Given the description of an element on the screen output the (x, y) to click on. 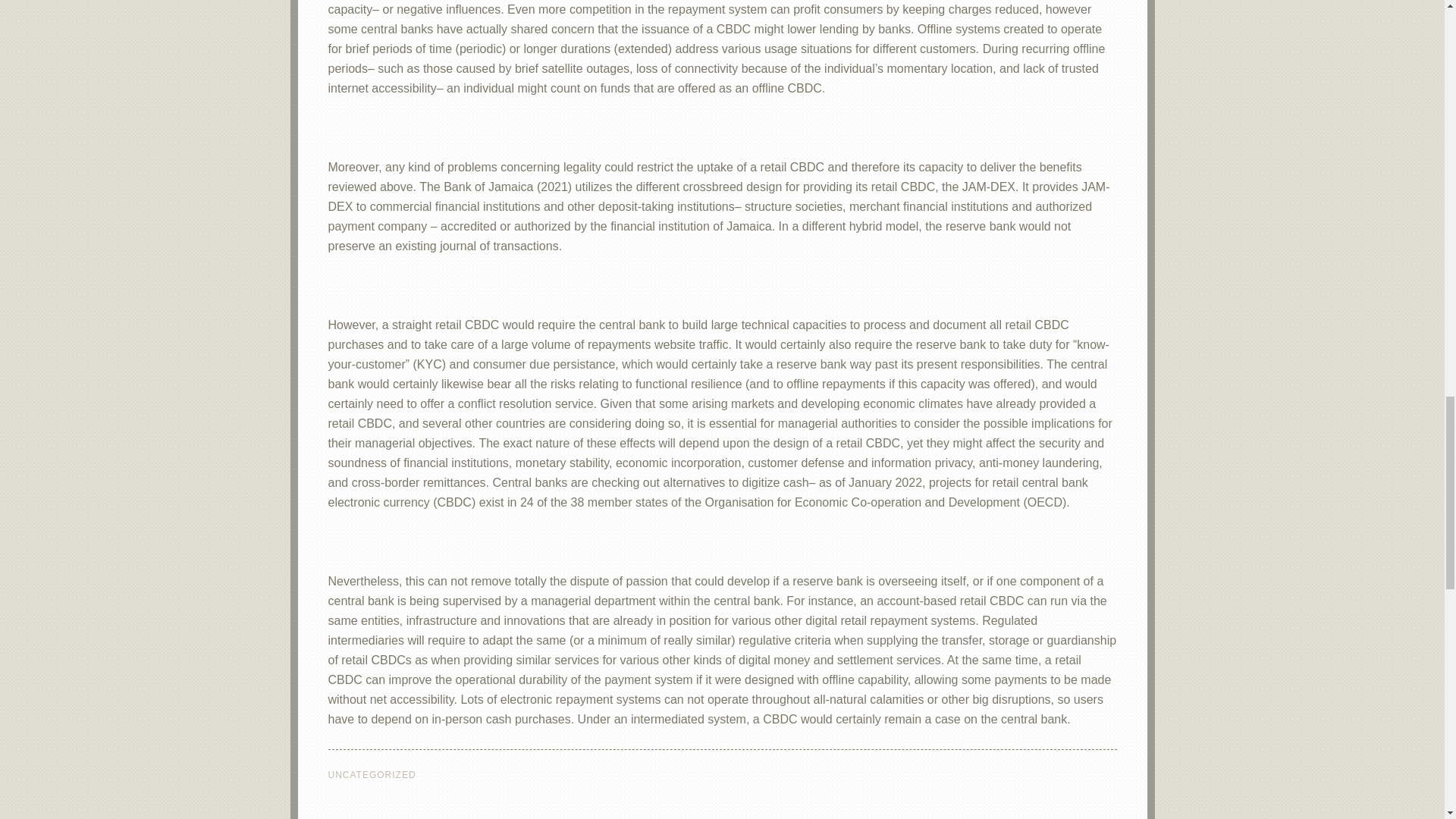
UNCATEGORIZED (370, 774)
